Given the description of an element on the screen output the (x, y) to click on. 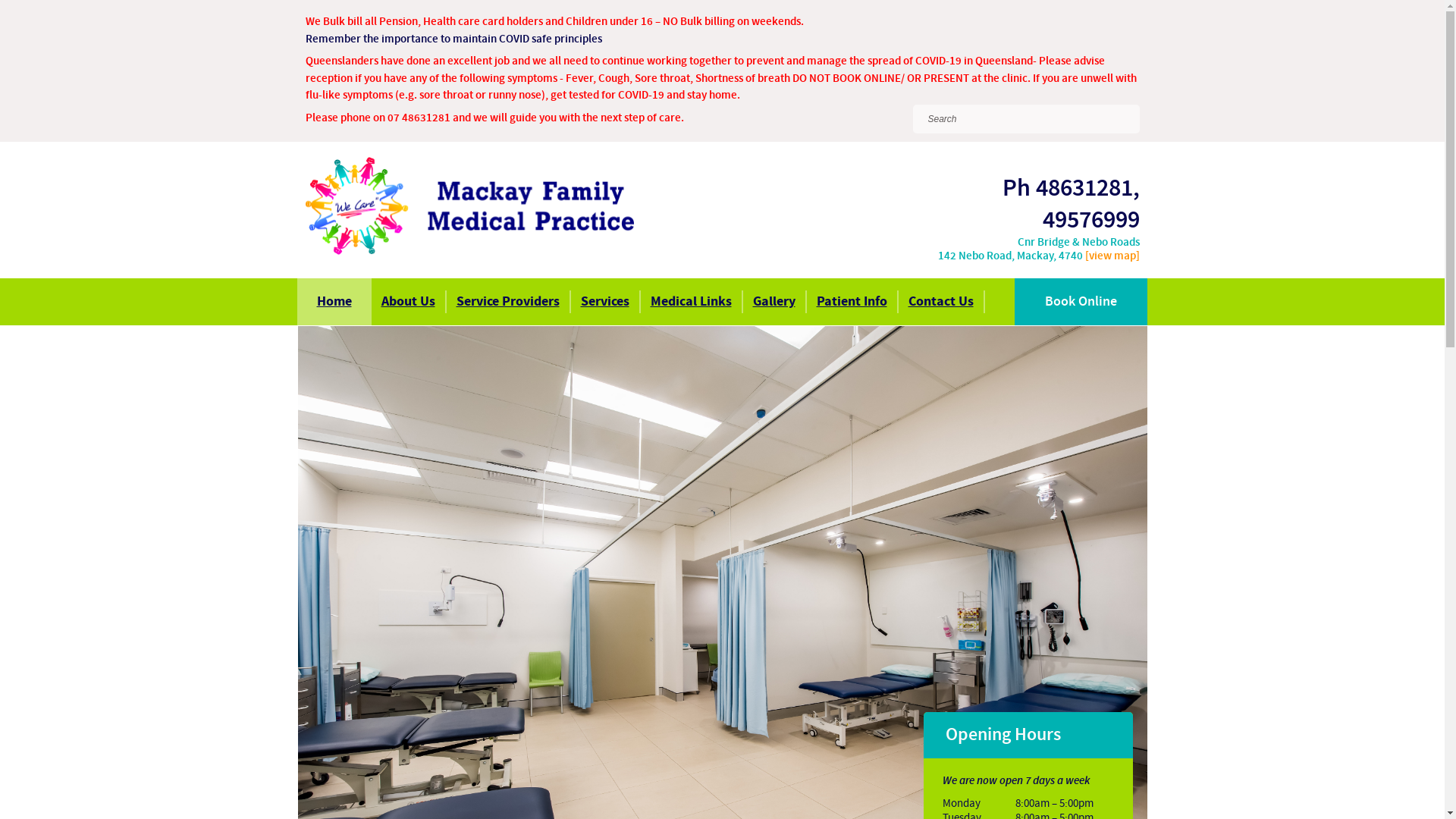
Contact Us Element type: text (940, 301)
Ph 48631281, Element type: text (1070, 188)
Service Providers Element type: text (507, 301)
Book Online Element type: text (1080, 301)
Services Element type: text (605, 301)
49576999 Element type: text (1090, 220)
Gallery Element type: text (773, 301)
Patient Info Element type: text (851, 301)
[view map] Element type: text (1111, 255)
Home Element type: text (334, 301)
Medical Links Element type: text (691, 301)
About Us Element type: text (407, 301)
